Given the description of an element on the screen output the (x, y) to click on. 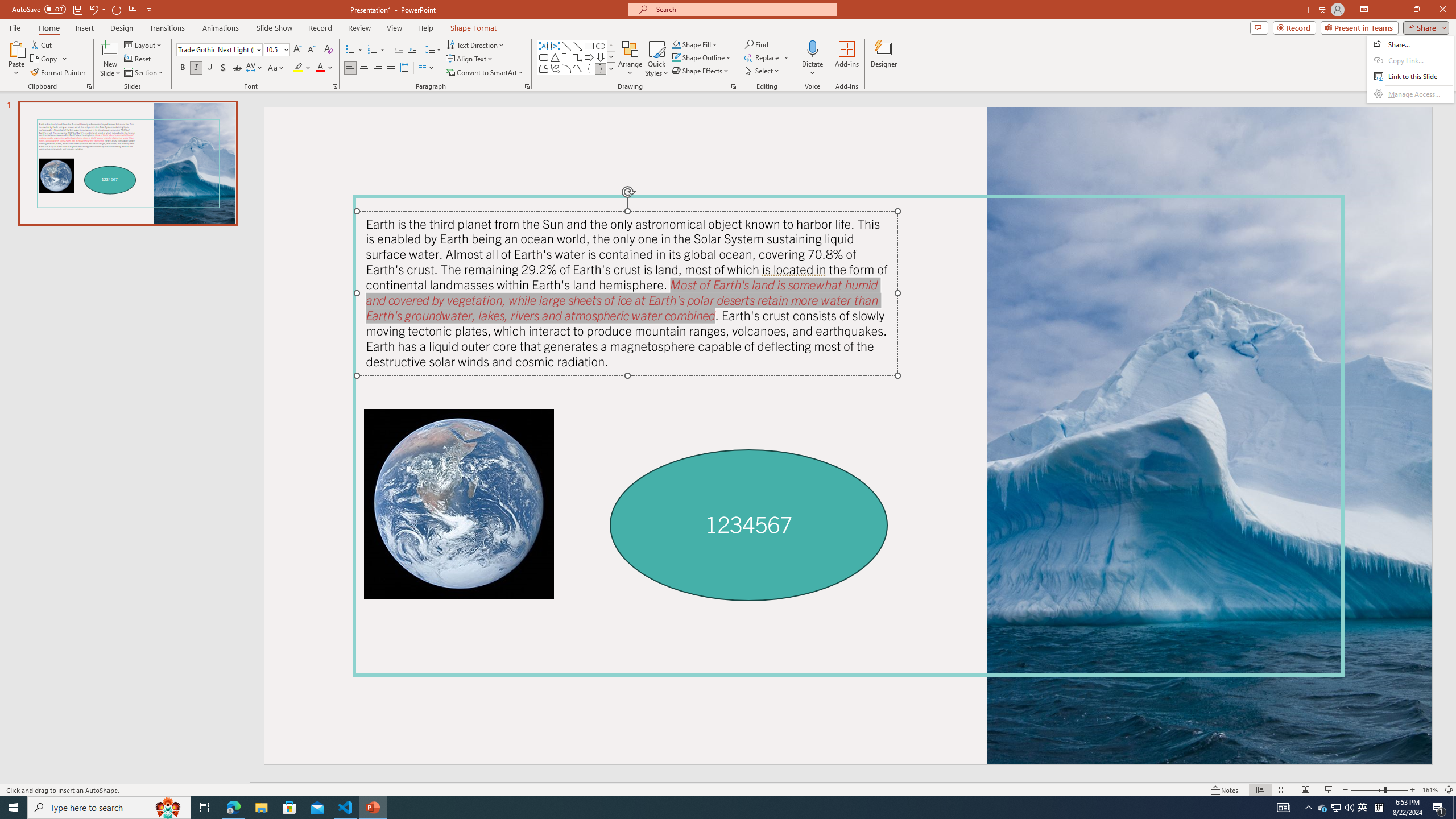
Running applications (700, 807)
